Given the description of an element on the screen output the (x, y) to click on. 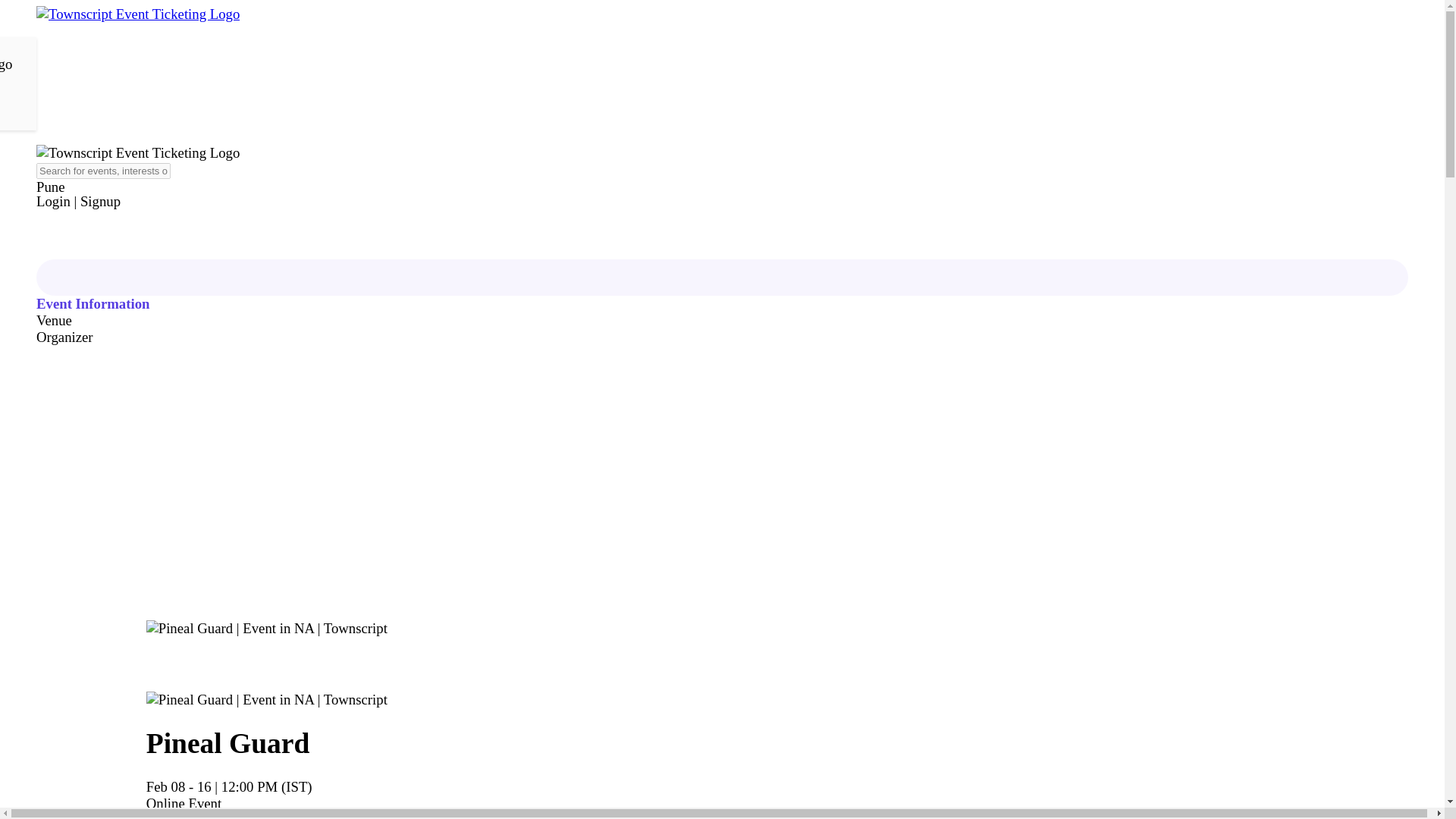
Townscript Event Ticketing Logo (138, 152)
Pune (264, 187)
Townscript Event Ticketing Logo (138, 13)
